Given the description of an element on the screen output the (x, y) to click on. 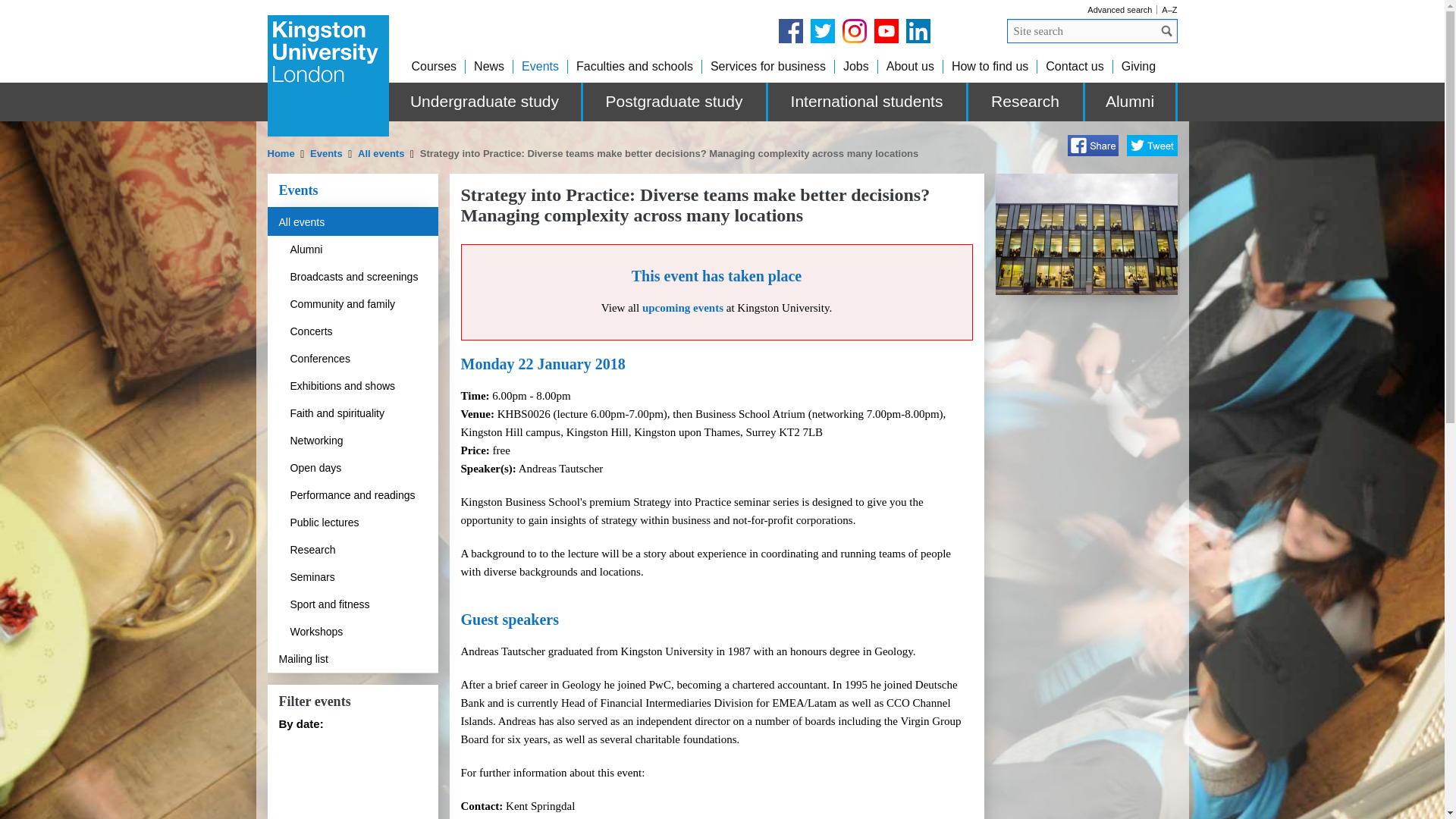
All events (381, 153)
Giving (1138, 65)
Facebook (789, 30)
Events (326, 153)
Research (1026, 101)
Home (281, 153)
Facebook (1092, 145)
Events at Kingston University London (540, 65)
Courses (433, 65)
How to find Kingston University London (989, 65)
International students (867, 101)
Job vacancies at Kingston University London (856, 65)
News (488, 65)
Postgraduate study (674, 101)
